Given the description of an element on the screen output the (x, y) to click on. 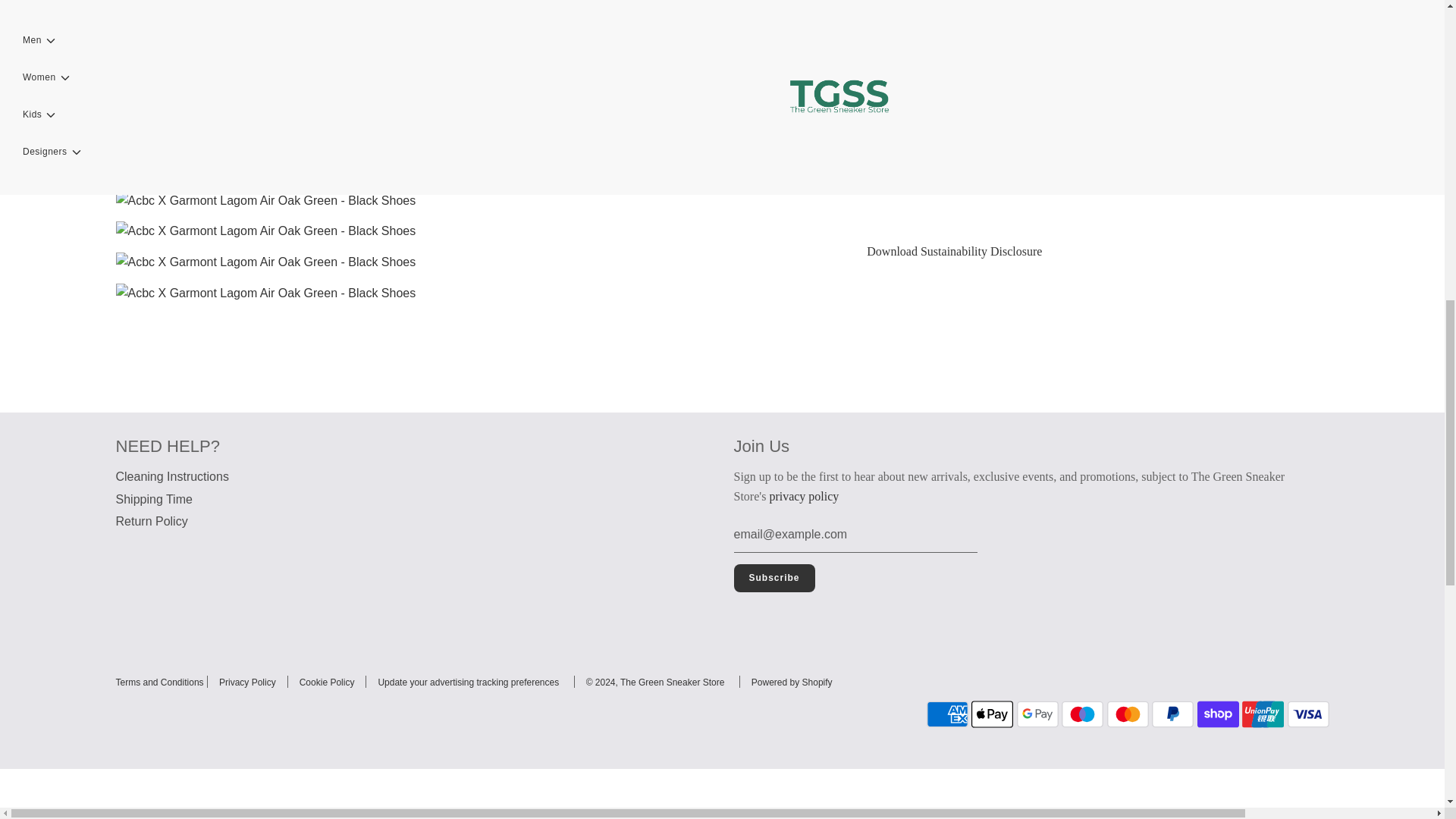
Shop Pay (1217, 714)
PayPal (1172, 714)
Privacy Policy  (247, 682)
Maestro (1082, 714)
Terms and Conditions  (159, 682)
Cookie Policy  (327, 682)
American Express (947, 714)
Visa (1308, 714)
Google Pay (1037, 714)
Mastercard (1127, 714)
